Given the description of an element on the screen output the (x, y) to click on. 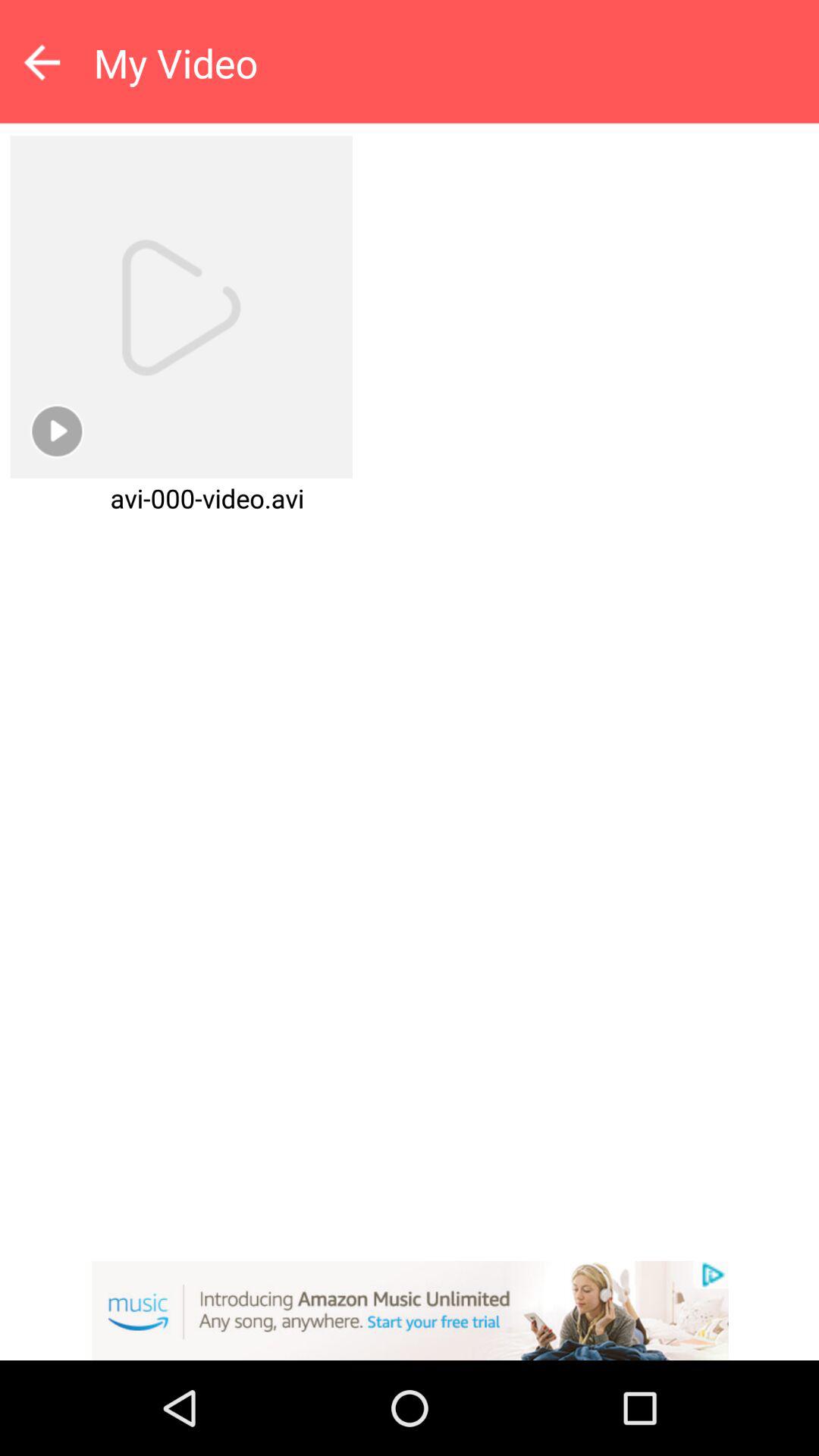
watch advertisement (409, 1310)
